Given the description of an element on the screen output the (x, y) to click on. 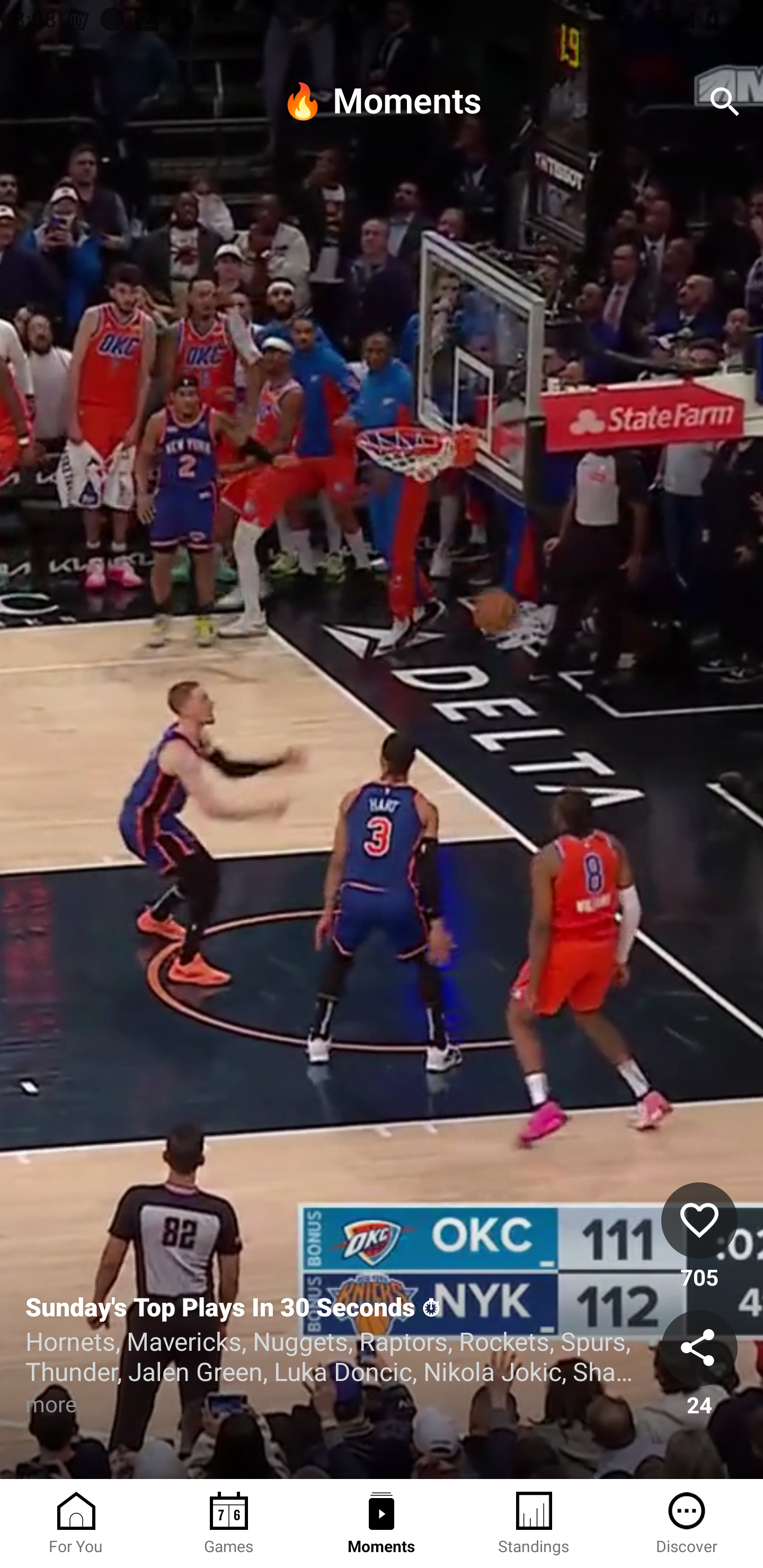
search (724, 101)
like 705 705 Likes (699, 1236)
share 24 24 Shares (699, 1364)
more (72, 1403)
For You (76, 1523)
Games (228, 1523)
Standings (533, 1523)
Discover (686, 1523)
